Given the description of an element on the screen output the (x, y) to click on. 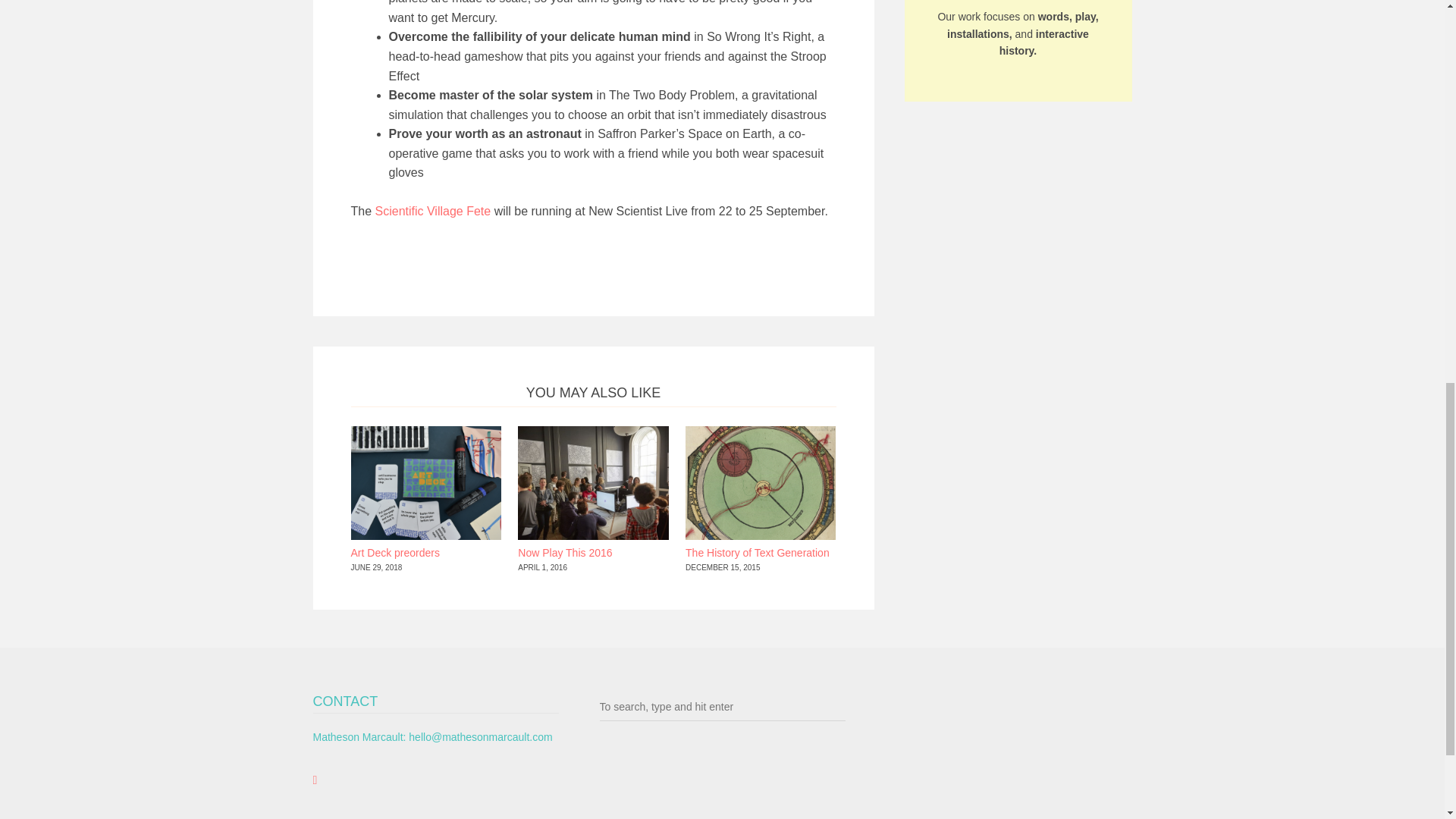
Scientific Village Fete (433, 210)
Art Deck preorders (394, 552)
Now Play This 2016 (564, 552)
The History of Text Generation (757, 552)
